Given the description of an element on the screen output the (x, y) to click on. 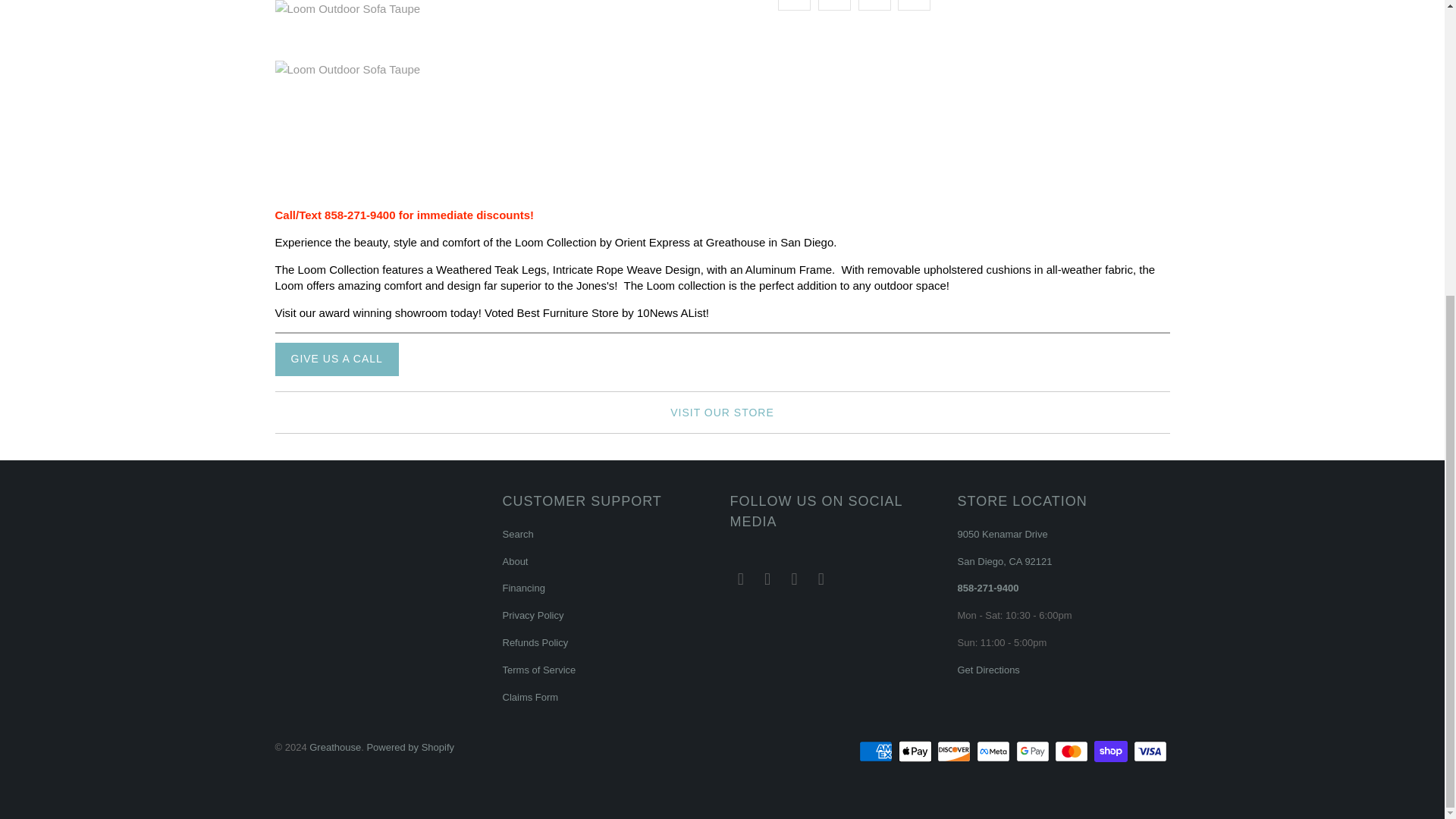
Email this to a friend (914, 5)
Share this on Facebook (834, 5)
Apple Pay (916, 751)
Shop Pay (1112, 751)
Discover (955, 751)
Mastercard (1072, 751)
Share this on Pinterest (875, 5)
Visa (1150, 751)
Greathouse on Twitter (740, 579)
Google Pay (1034, 751)
Greathouse on Pinterest (794, 579)
Share this on Twitter (793, 5)
Meta Pay (994, 751)
American Express (877, 751)
Greathouse on Facebook (767, 579)
